Given the description of an element on the screen output the (x, y) to click on. 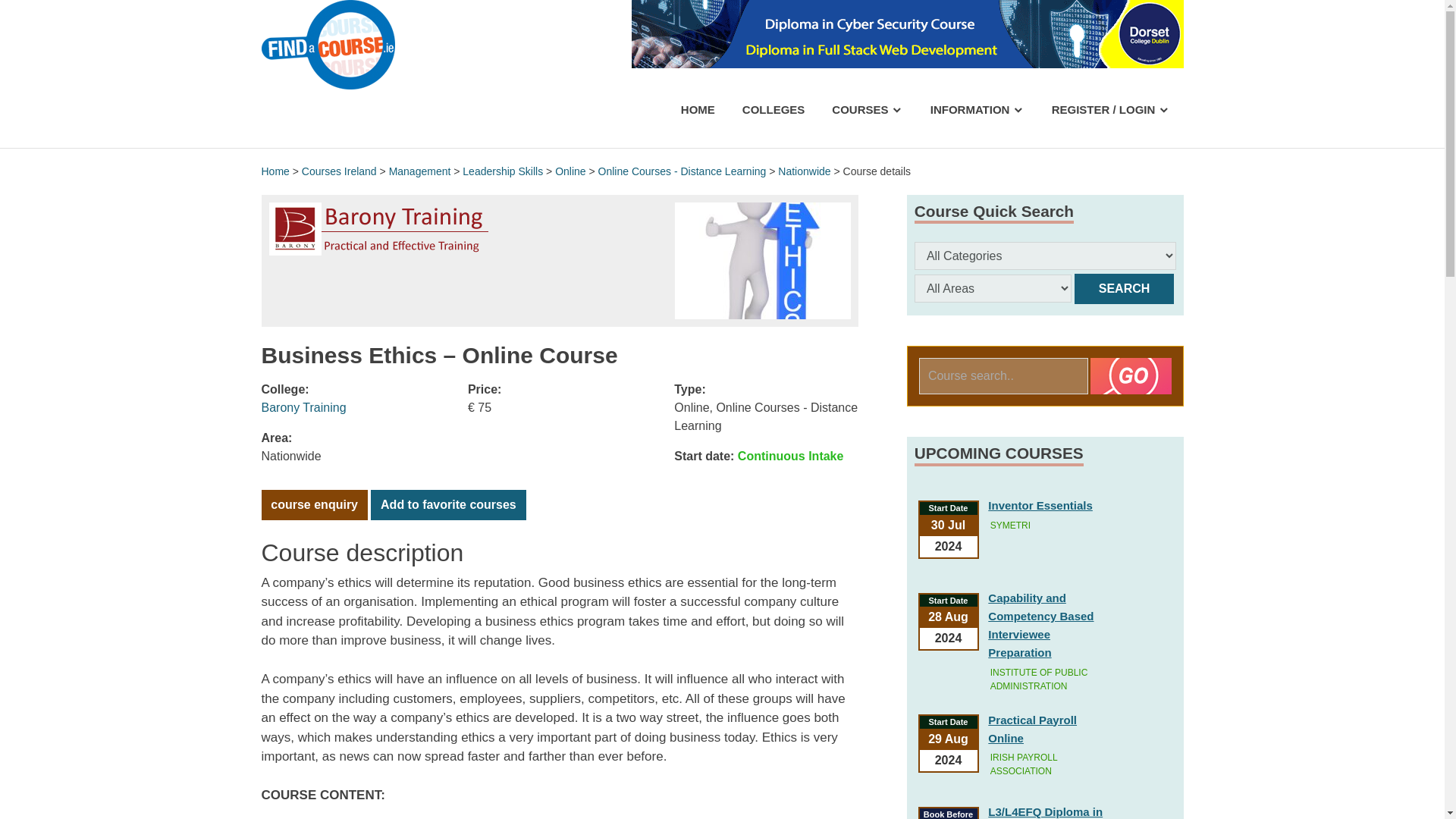
Courses Ireland (339, 171)
Home (274, 171)
Add to favorite courses (448, 504)
Nationwide (803, 171)
course enquiry (313, 504)
Online Courses - Distance Learning (682, 171)
INFORMATION (977, 109)
Leadership Skills (503, 171)
COLLEGES (773, 109)
Barony Training (303, 406)
Management (419, 171)
COURSES (866, 109)
Online (569, 171)
HOME (697, 109)
